Given the description of an element on the screen output the (x, y) to click on. 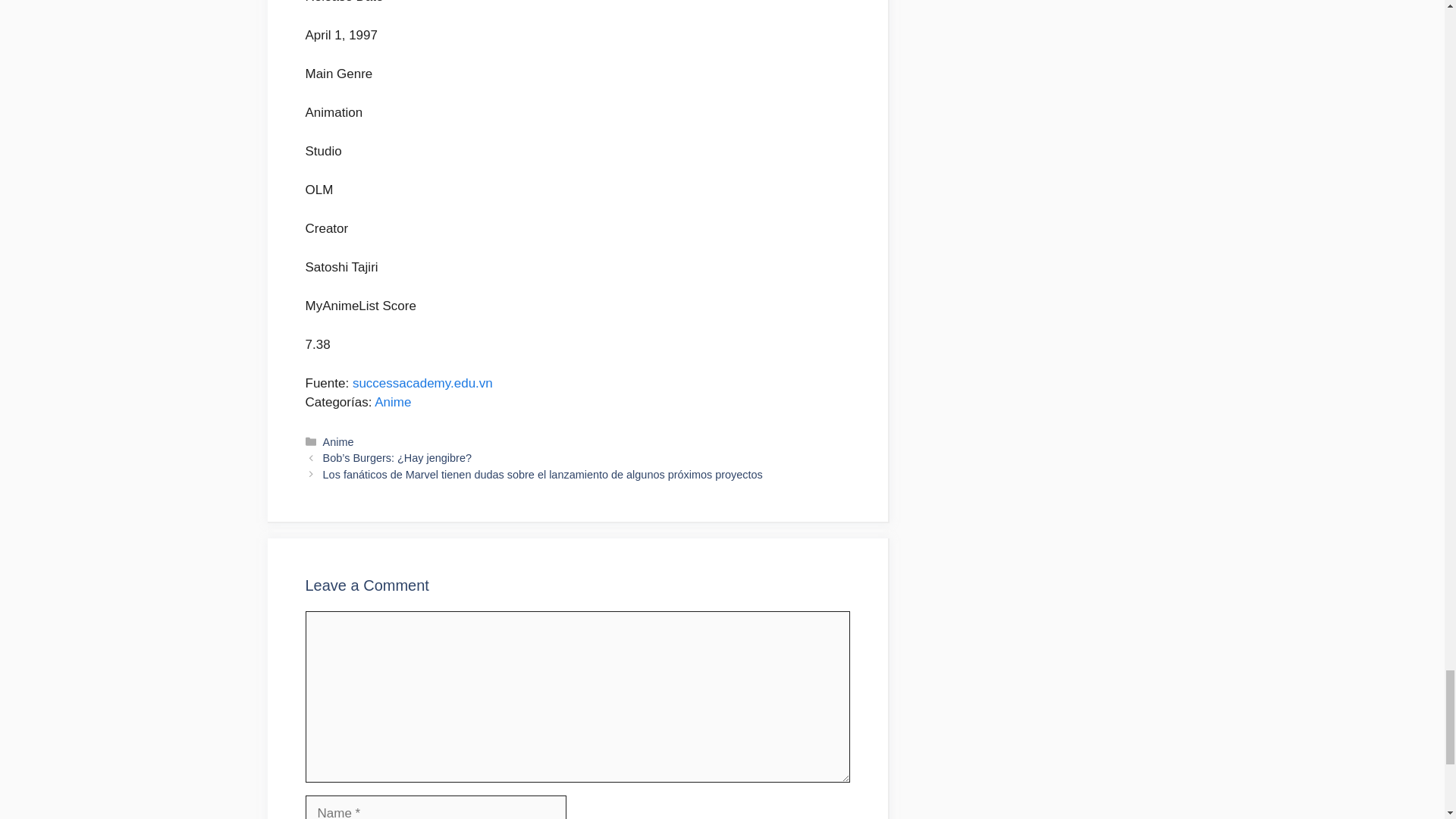
Anime (392, 401)
successacademy.edu.vn (422, 382)
Anime (338, 441)
